Given the description of an element on the screen output the (x, y) to click on. 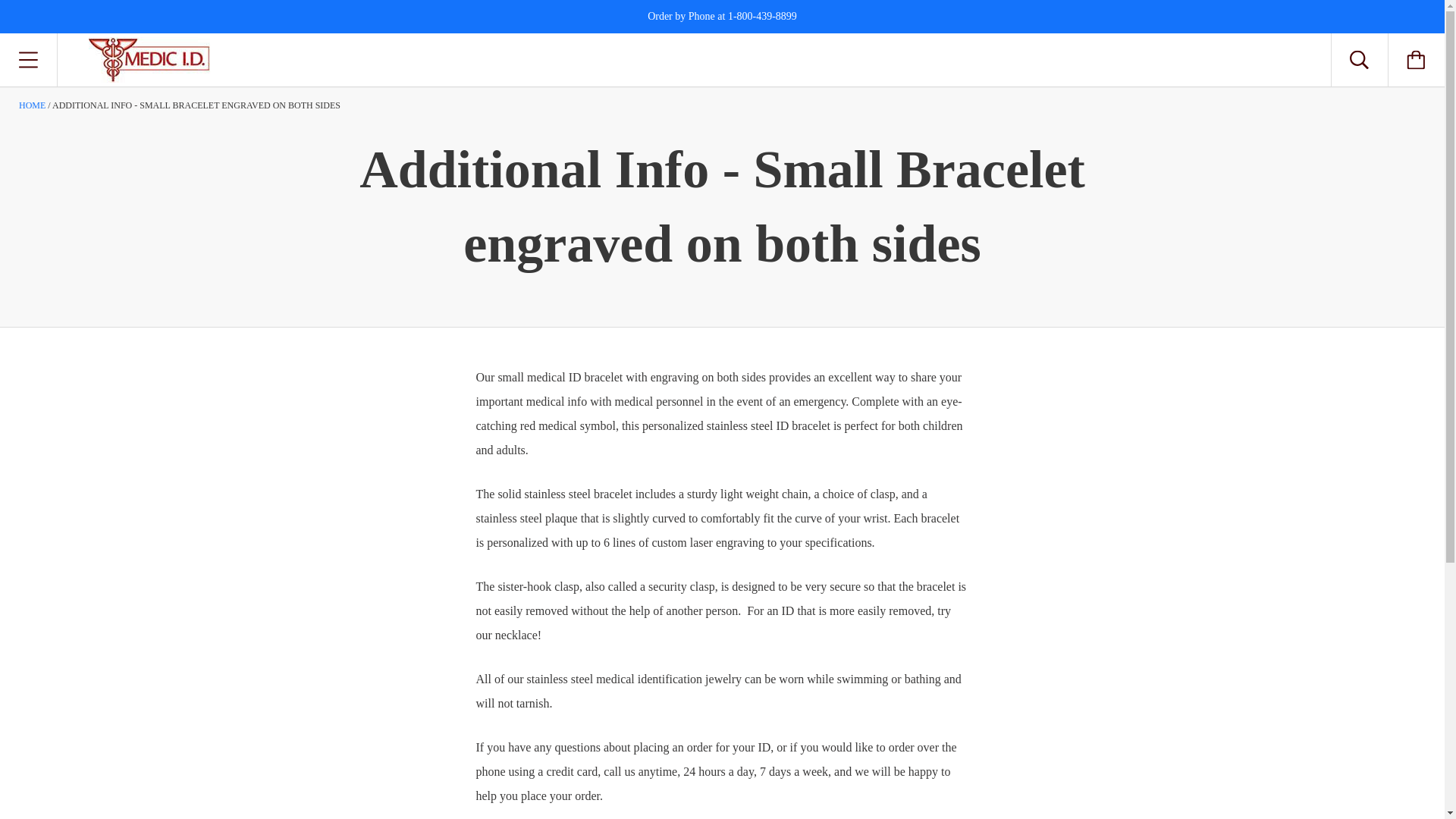
HOME (31, 104)
